Given the description of an element on the screen output the (x, y) to click on. 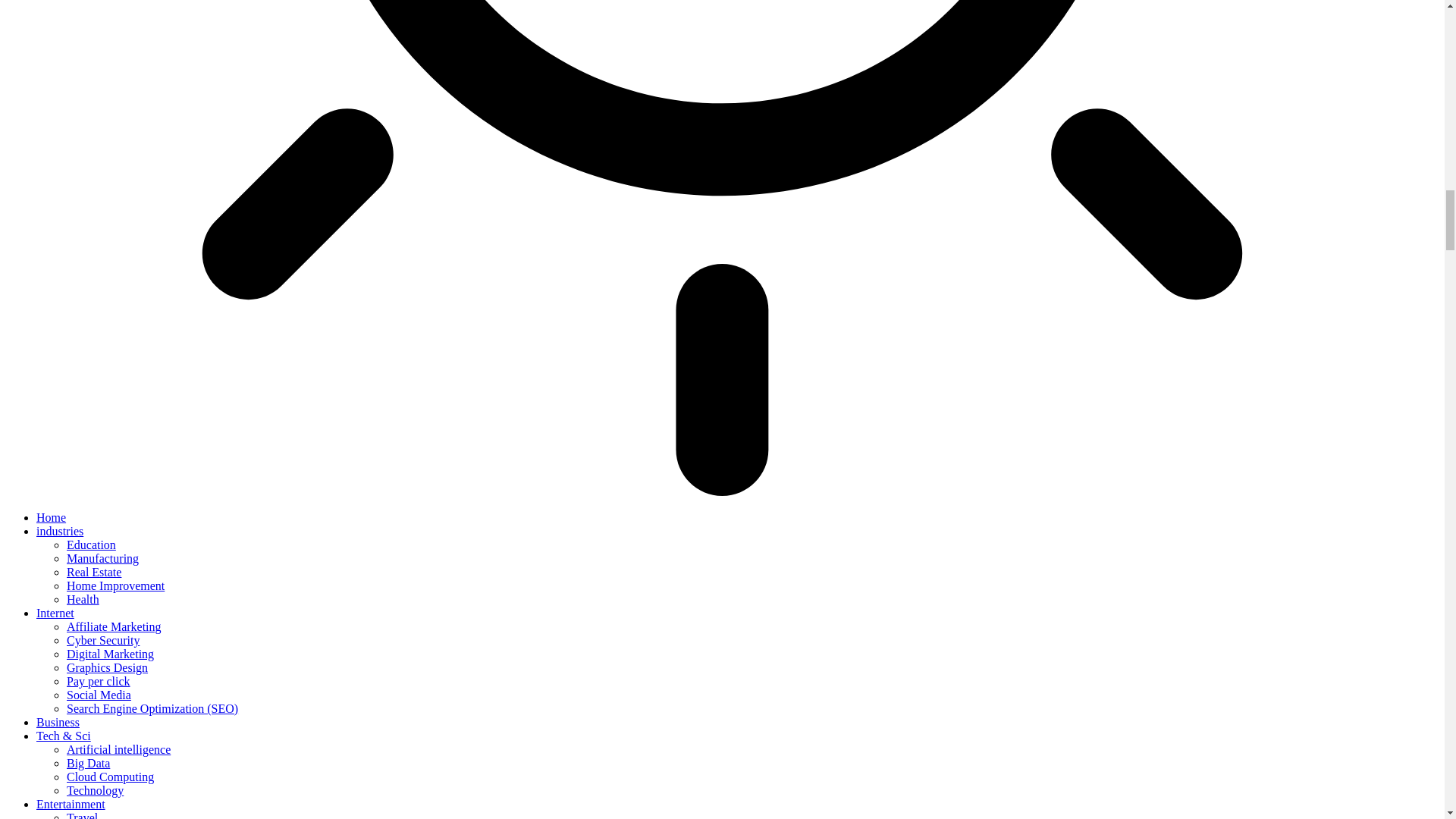
industries (59, 530)
Social Media (98, 694)
Business (58, 721)
Real Estate (93, 571)
Digital Marketing (110, 653)
Cloud Computing (110, 776)
Graphics Design (107, 667)
Manufacturing (102, 558)
Affiliate Marketing (113, 626)
Big Data (88, 762)
Artificial intelligence (118, 748)
Education (91, 544)
Home Improvement (115, 585)
Technology (94, 789)
Cyber Security (102, 640)
